Given the description of an element on the screen output the (x, y) to click on. 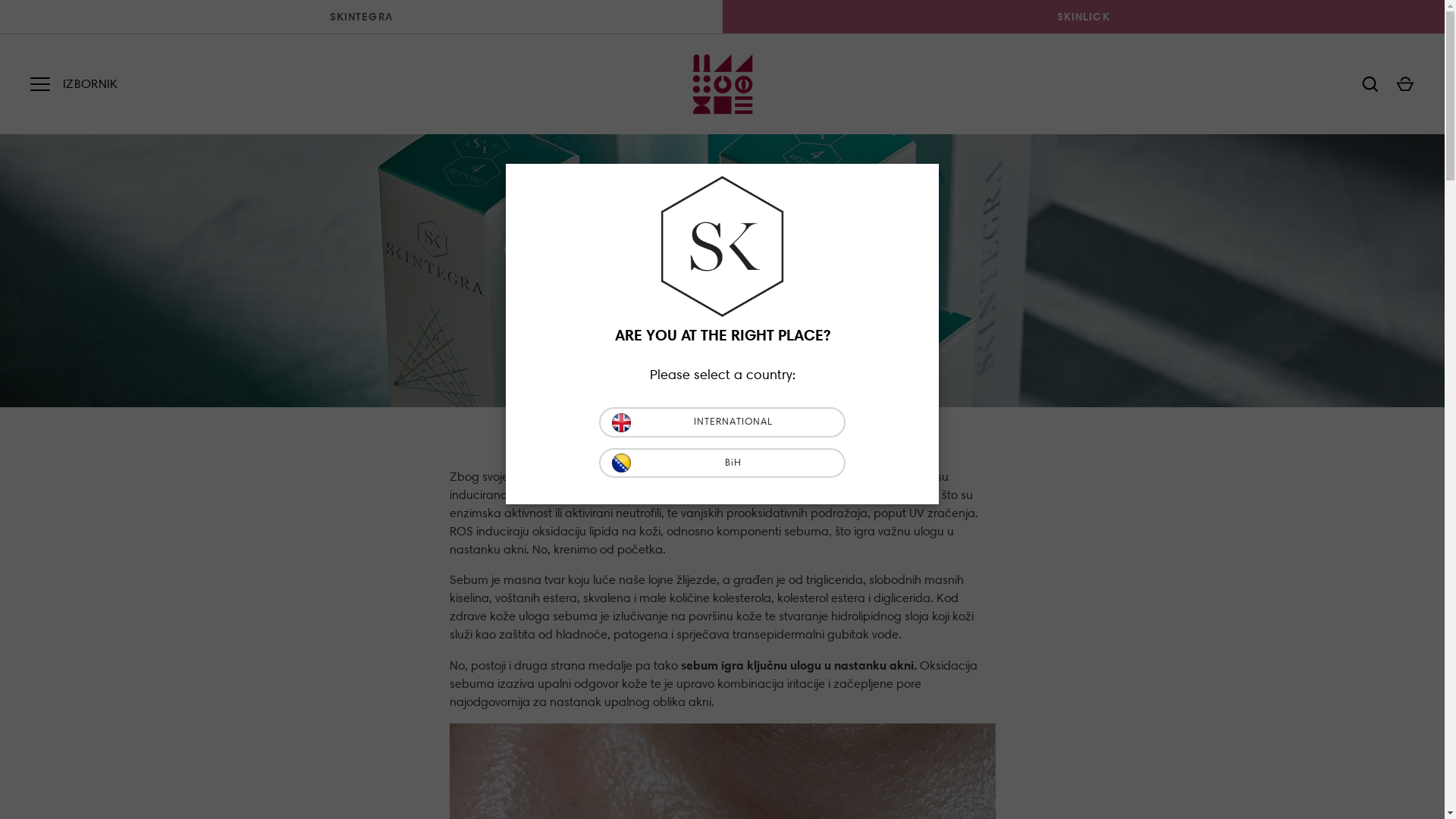
SKINTEGRA Element type: text (361, 16)
INTERNATIONAL Element type: text (722, 422)
SKINLICK Element type: text (1082, 16)
IZBORNIK Element type: text (39, 83)
